Given the description of an element on the screen output the (x, y) to click on. 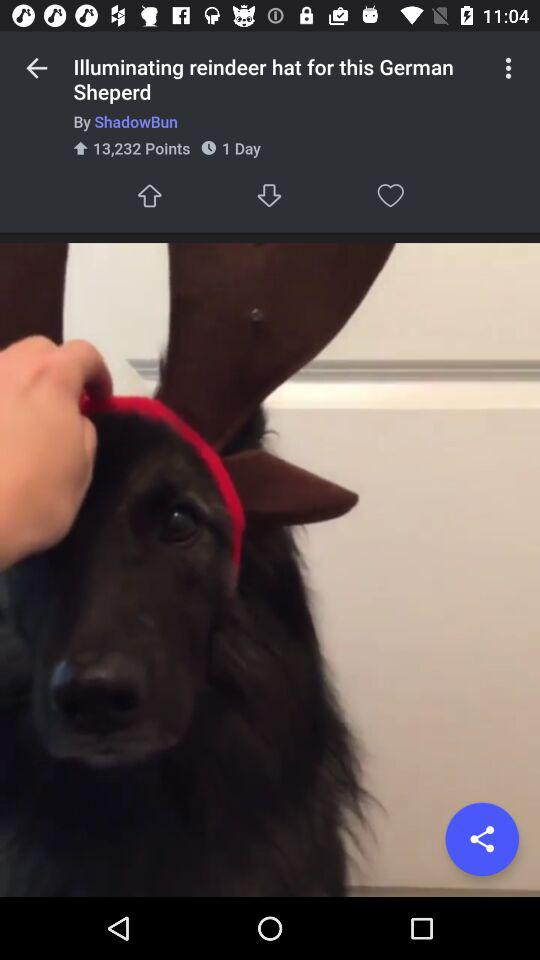
tap the icon to the left of 1 day icon (149, 195)
